Given the description of an element on the screen output the (x, y) to click on. 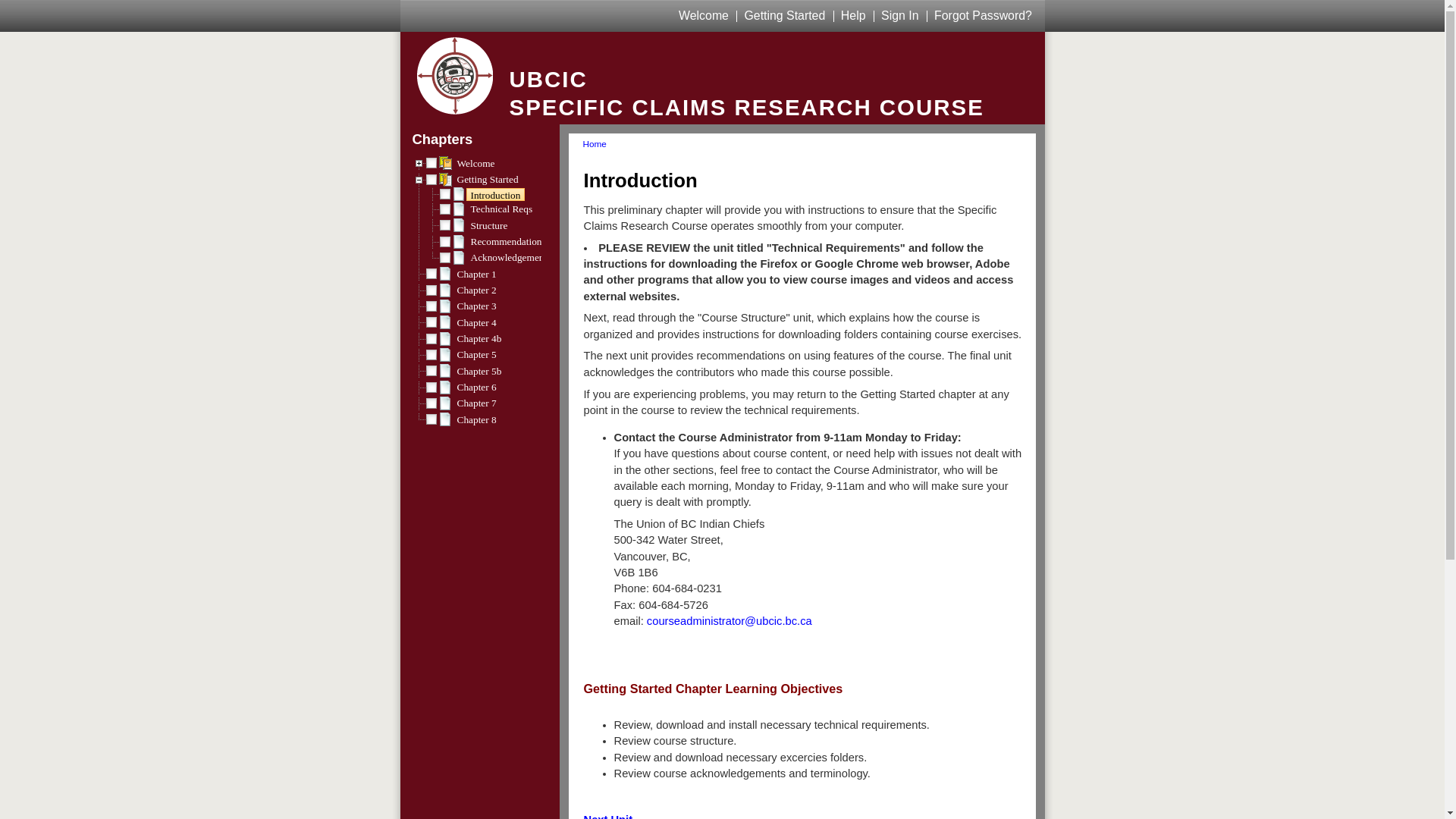
Sign In Element type: text (899, 15)
Forgot Password? Element type: text (983, 15)
Welcome Element type: text (703, 15)
Home Element type: text (593, 143)
Getting Started Element type: text (784, 15)
Help Element type: text (853, 15)
Home Element type: hover (454, 77)
courseadministrator@ubcic.bc.ca Element type: text (729, 621)
